Given the description of an element on the screen output the (x, y) to click on. 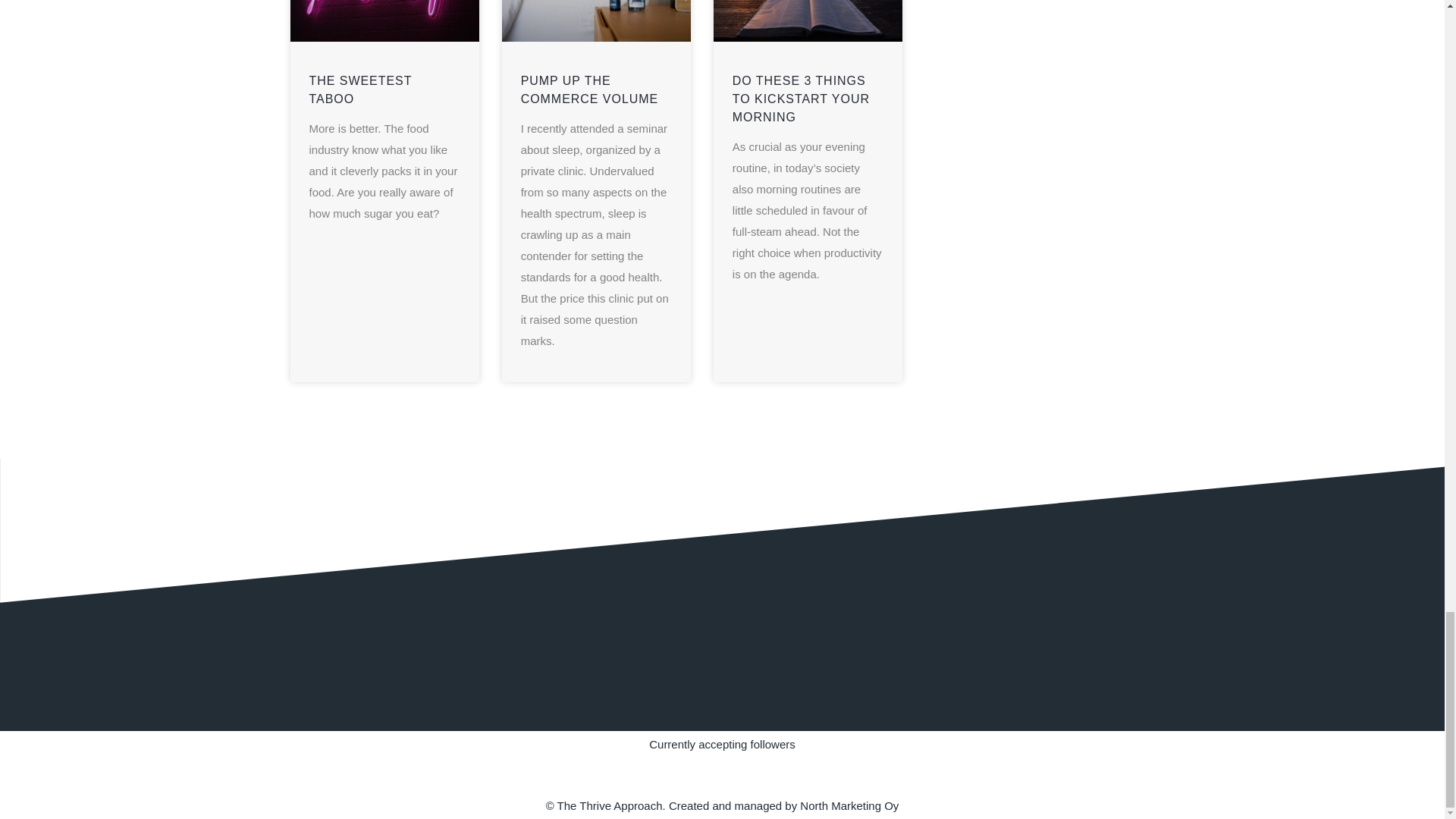
DO THESE 3 THINGS TO KICKSTART YOUR MORNING (800, 98)
THE SWEETEST TABOO (360, 89)
PUMP UP THE COMMERCE VOLUME (590, 89)
